Given the description of an element on the screen output the (x, y) to click on. 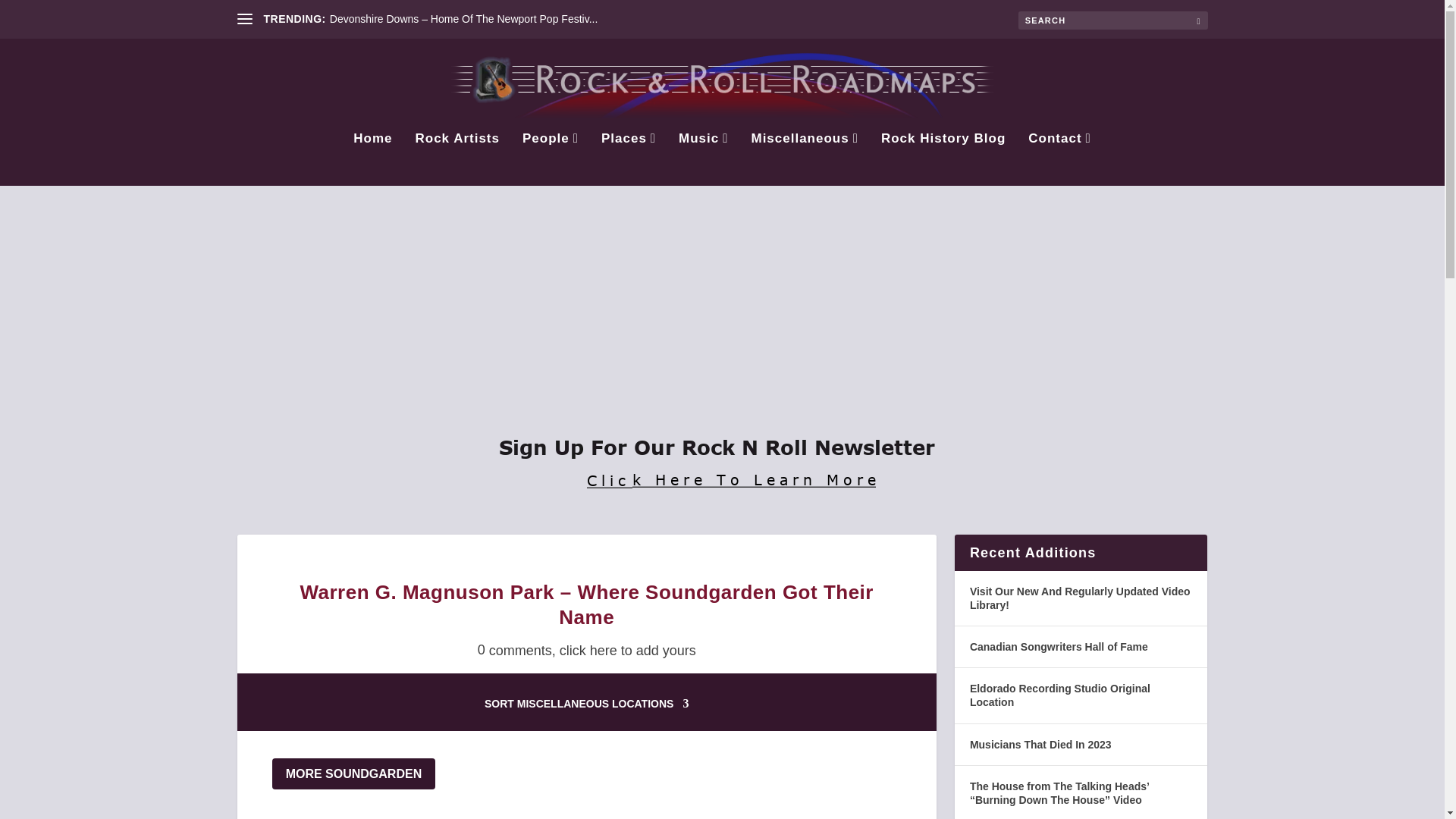
comment count (592, 650)
Rock Artists (456, 158)
Places (628, 158)
Search for: (1112, 20)
People (550, 158)
